Given the description of an element on the screen output the (x, y) to click on. 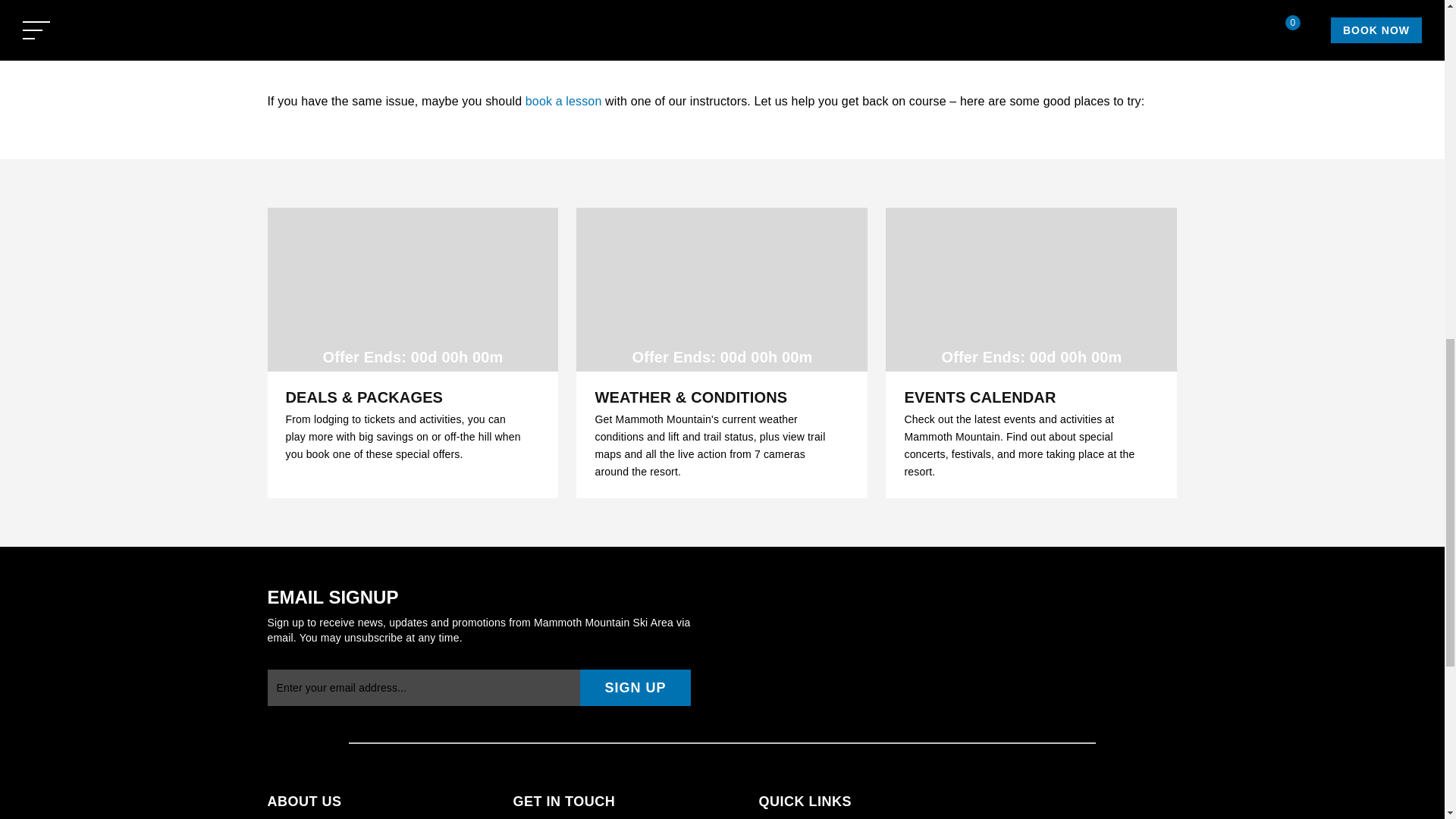
SIGN UP (634, 687)
ABOUT US (380, 801)
book a lesson (563, 101)
